Given the description of an element on the screen output the (x, y) to click on. 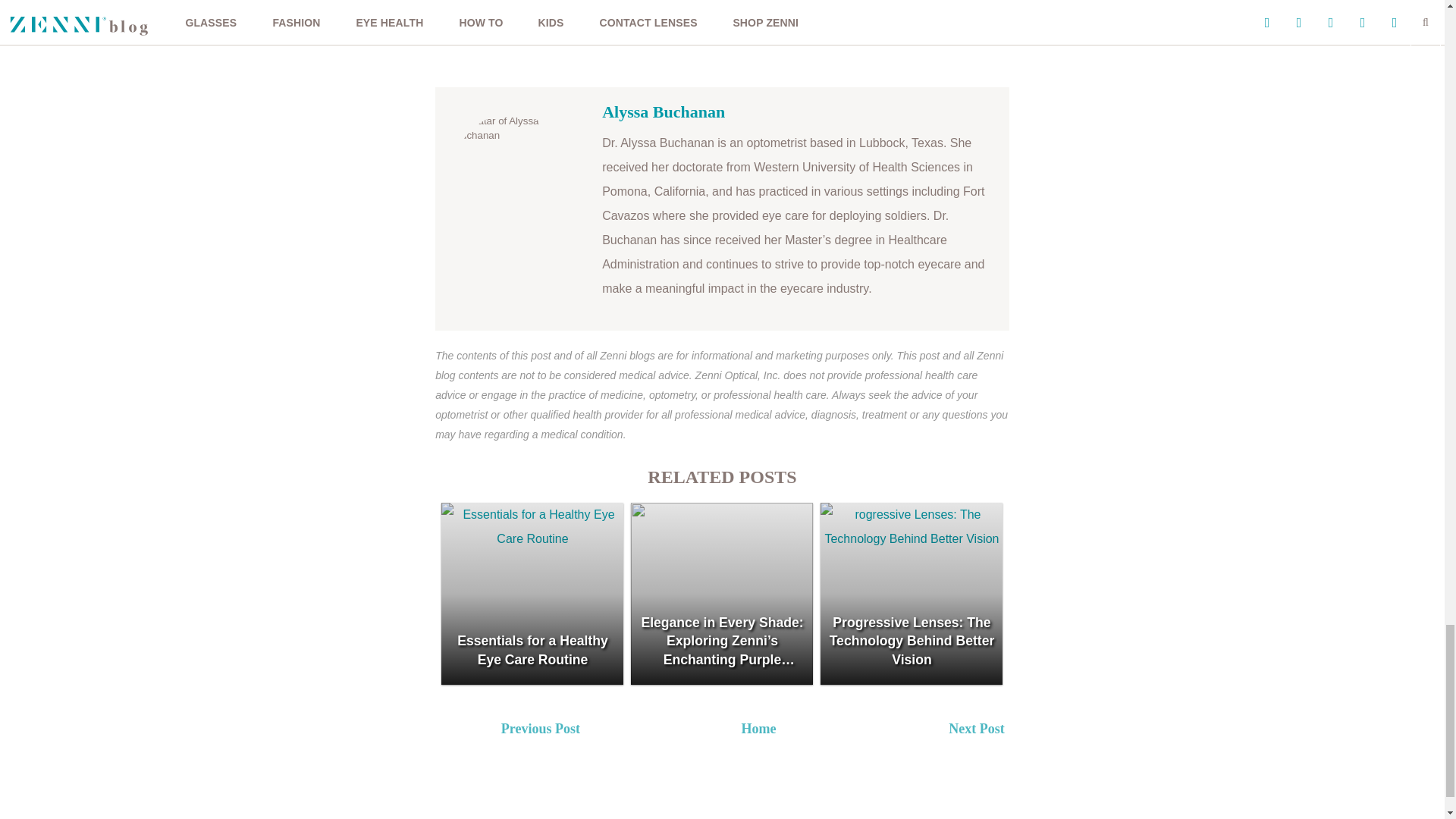
Essentials for a Healthy Eye Care Routine (532, 593)
Alyssa Buchanan (663, 111)
Next Post (1053, 731)
Previous Post (605, 731)
Progressive Lenses: The Technology Behind Better Vision (912, 593)
Home (758, 728)
